Given the description of an element on the screen output the (x, y) to click on. 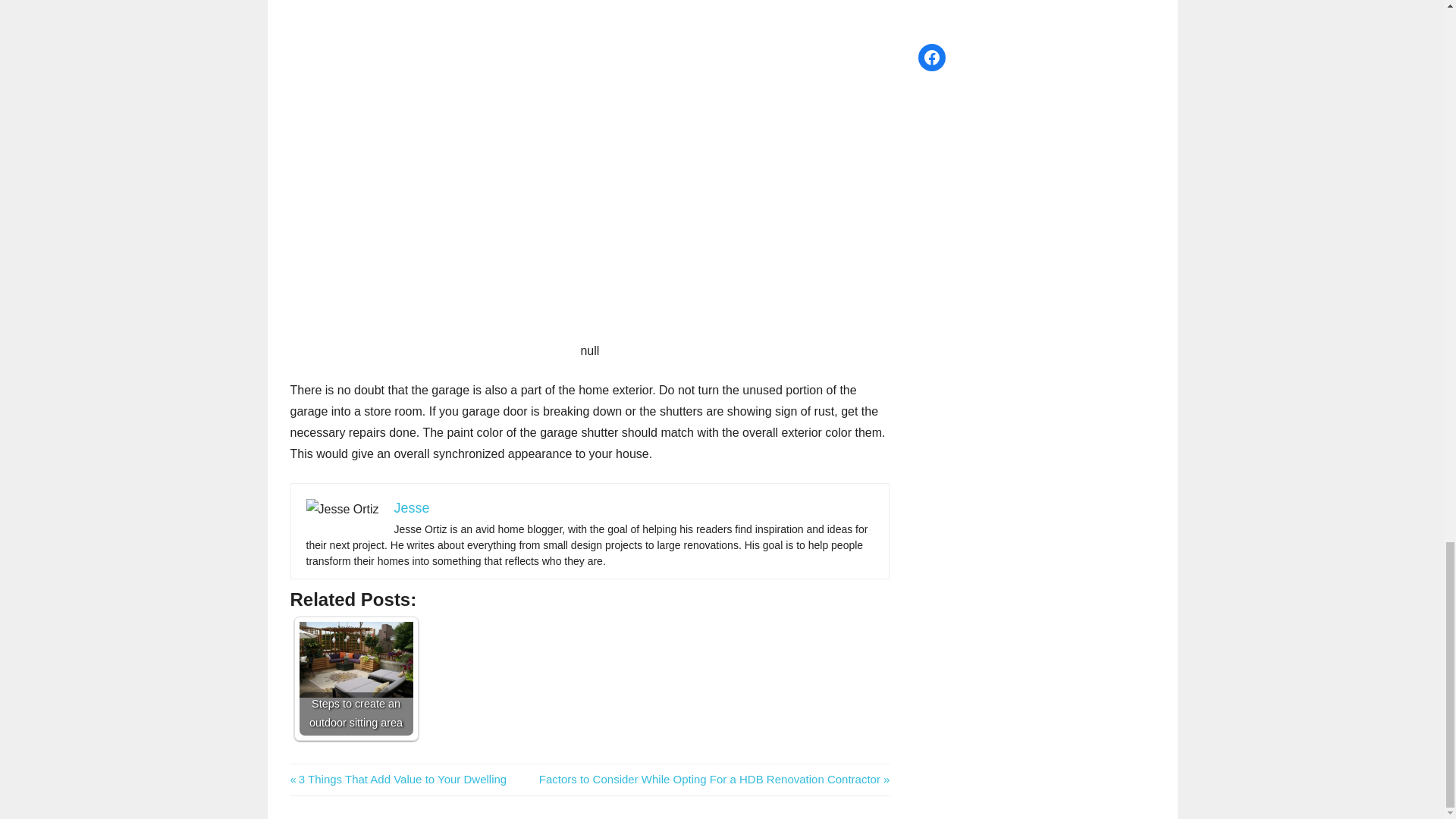
Jesse (411, 507)
Jesse Ortiz (341, 509)
Steps to create an outdoor sitting area (397, 779)
Steps to create an outdoor sitting area (355, 677)
